Given the description of an element on the screen output the (x, y) to click on. 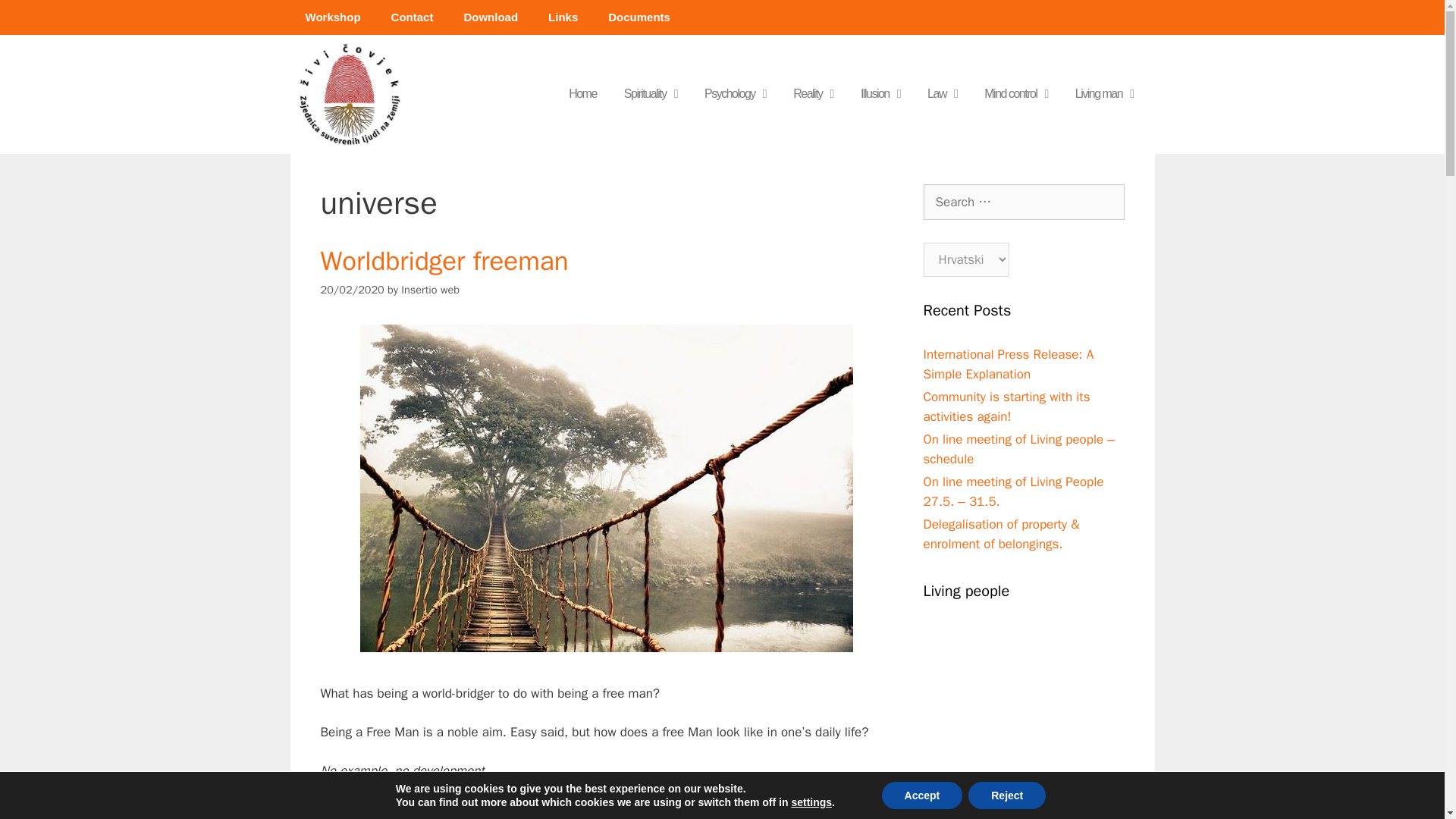
Contact (411, 17)
Documents (638, 17)
Psychology (734, 93)
Links (562, 17)
Workshop (332, 17)
Search for: (1023, 202)
Home (582, 93)
Download (490, 17)
View all posts by Insertio web (430, 289)
Spirituality (650, 93)
